Given the description of an element on the screen output the (x, y) to click on. 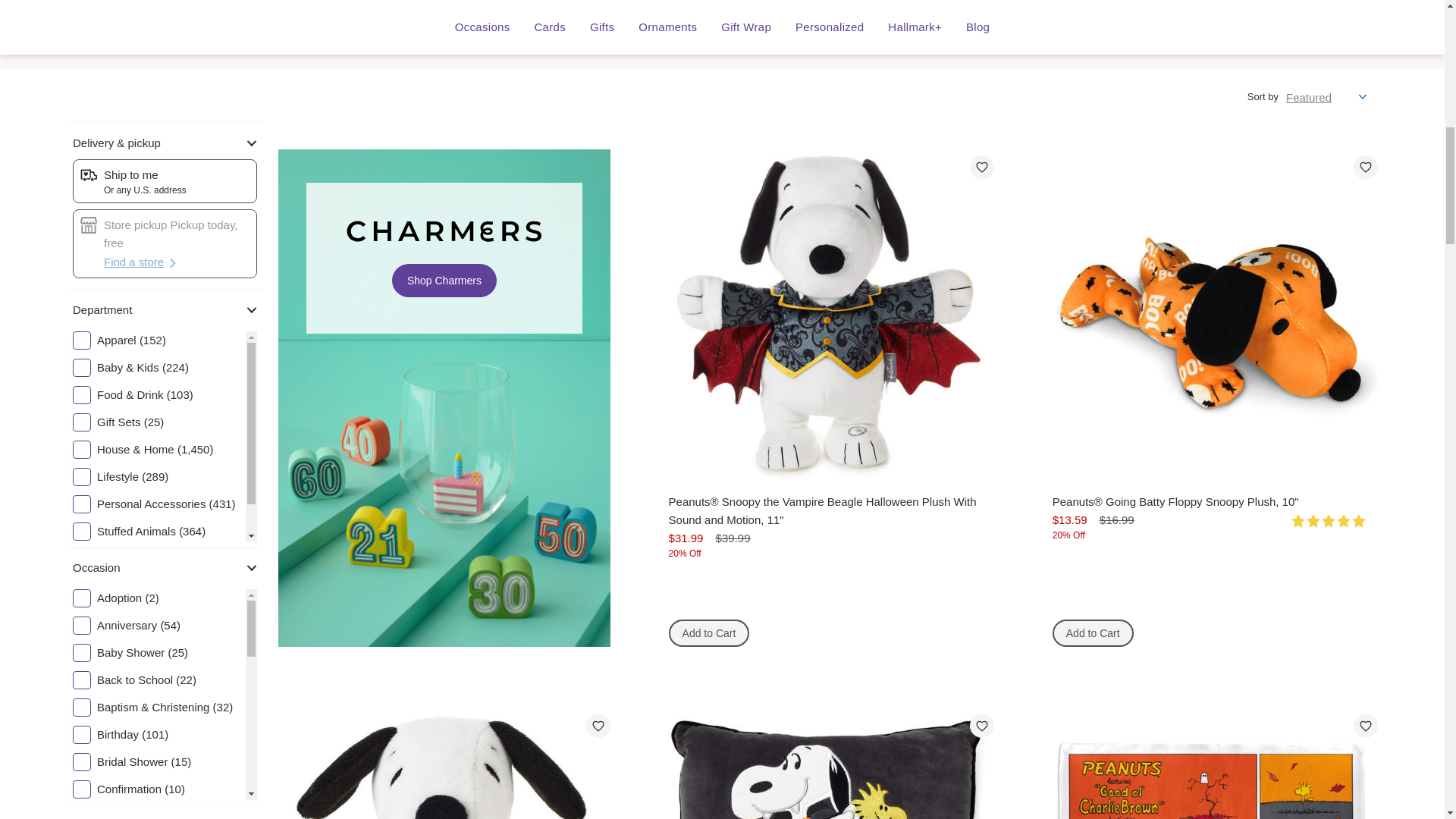
 Refine by Buyable Channel: store-pickup (165, 234)
 Refine by Department: Apparel (159, 340)
 Refine by Buyable Channel: ship-to-me (165, 181)
